Given the description of an element on the screen output the (x, y) to click on. 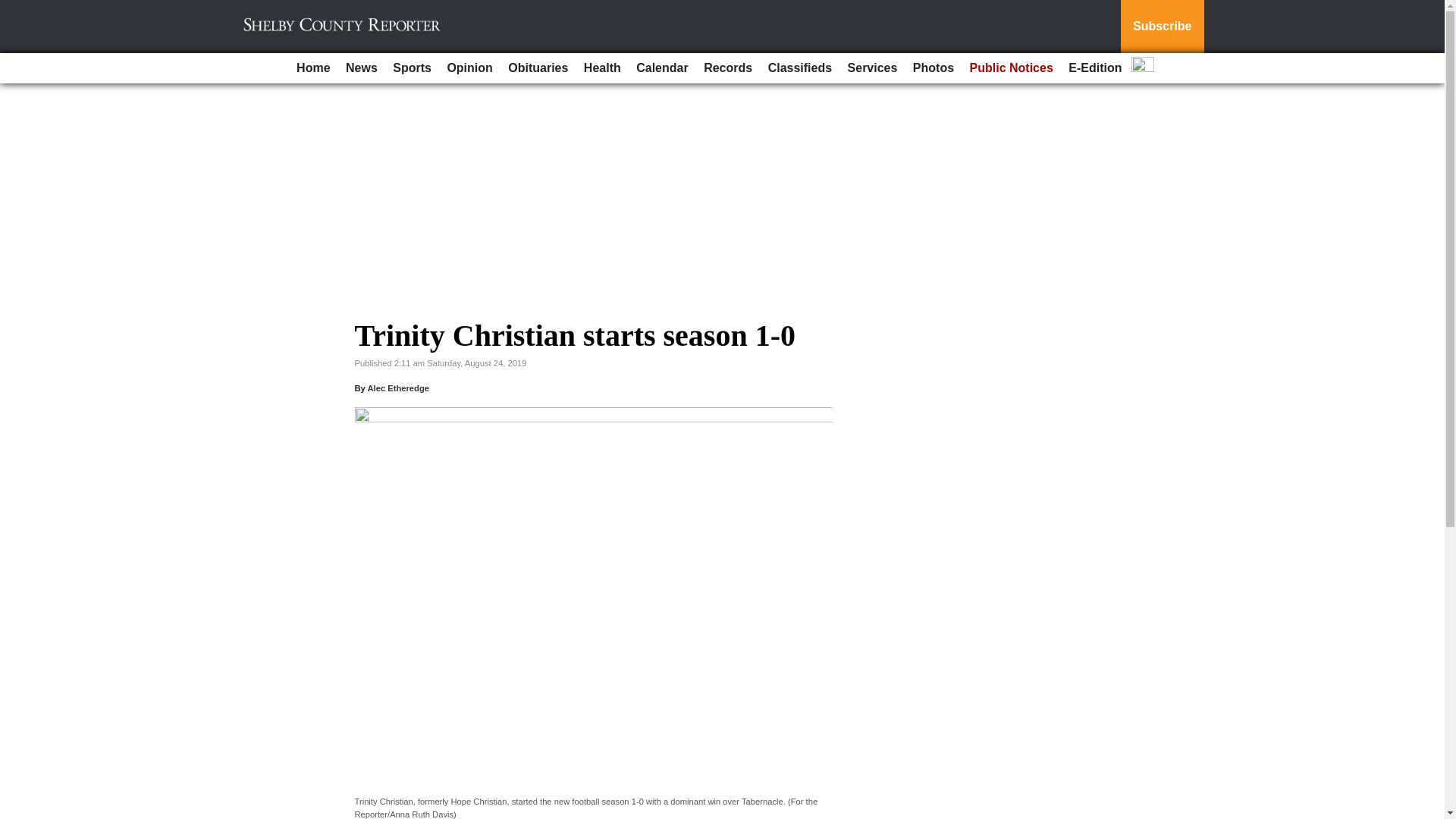
Services (872, 68)
Opinion (469, 68)
Health (602, 68)
News (361, 68)
Classifieds (799, 68)
Sports (412, 68)
Calendar (662, 68)
Subscribe (1162, 26)
Records (727, 68)
Home (312, 68)
